Given the description of an element on the screen output the (x, y) to click on. 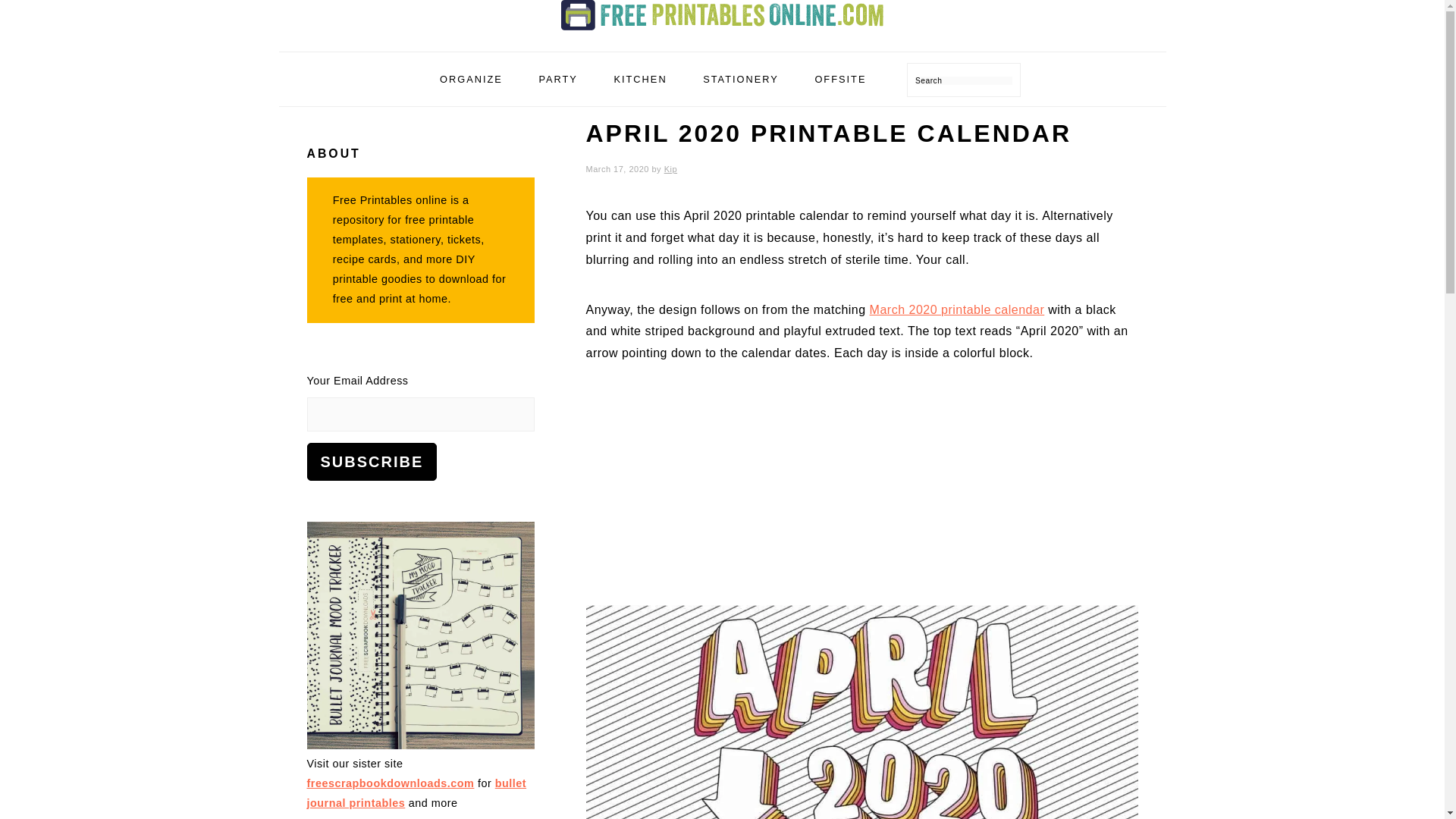
Subscribe (370, 461)
Advertisement (861, 499)
Free Printables Online (721, 15)
KITCHEN (639, 78)
Free Printables Online (721, 33)
PARTY (557, 78)
ORGANIZE (470, 78)
